Given the description of an element on the screen output the (x, y) to click on. 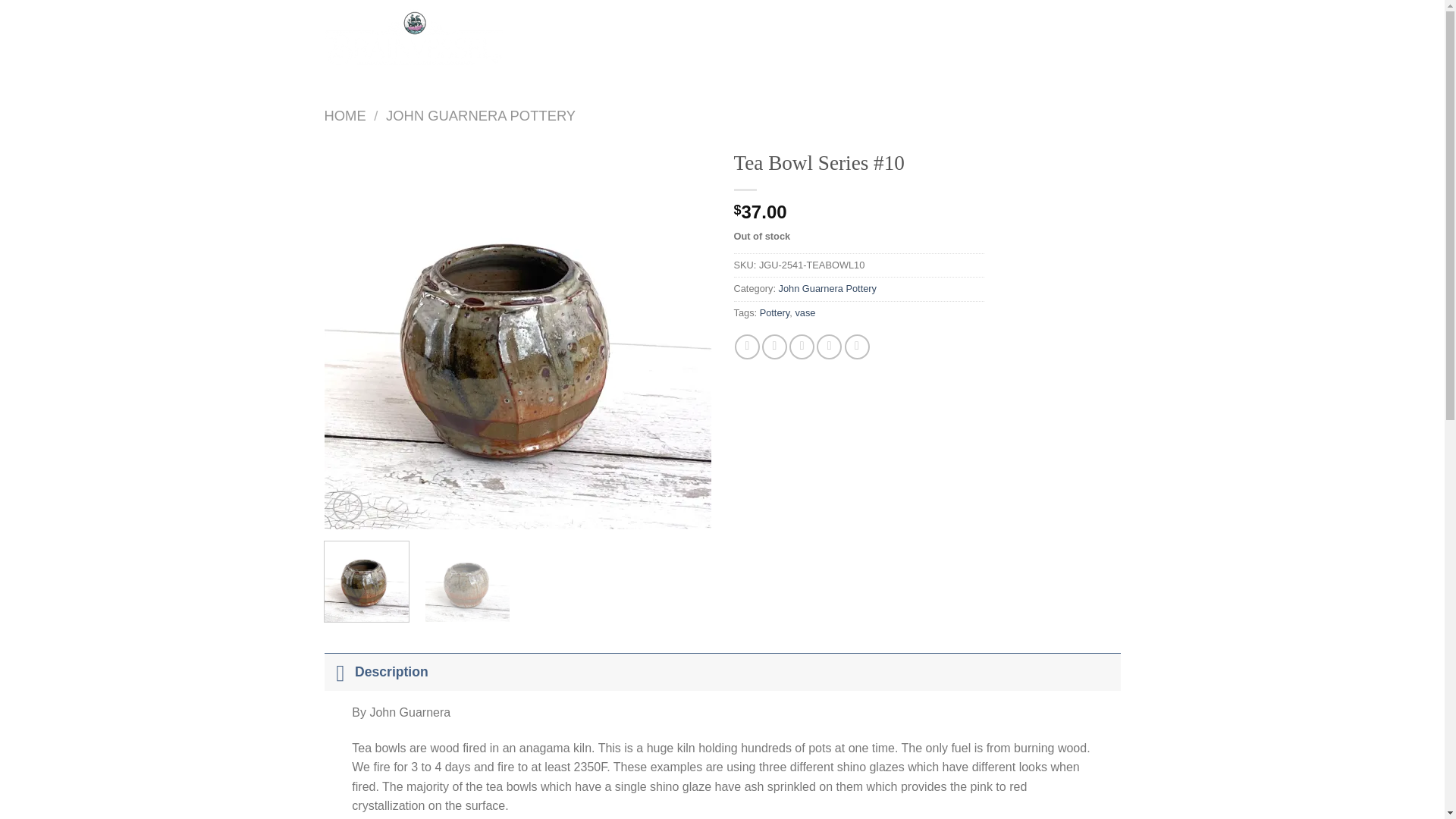
Shop Artists (649, 22)
Shop All (577, 22)
Zoom (347, 506)
Share on Twitter (774, 346)
Pin on Pinterest (828, 346)
Email to a Friend (801, 346)
Share on Facebook (747, 346)
Share on LinkedIn (856, 346)
Cart (1094, 42)
